Given the description of an element on the screen output the (x, y) to click on. 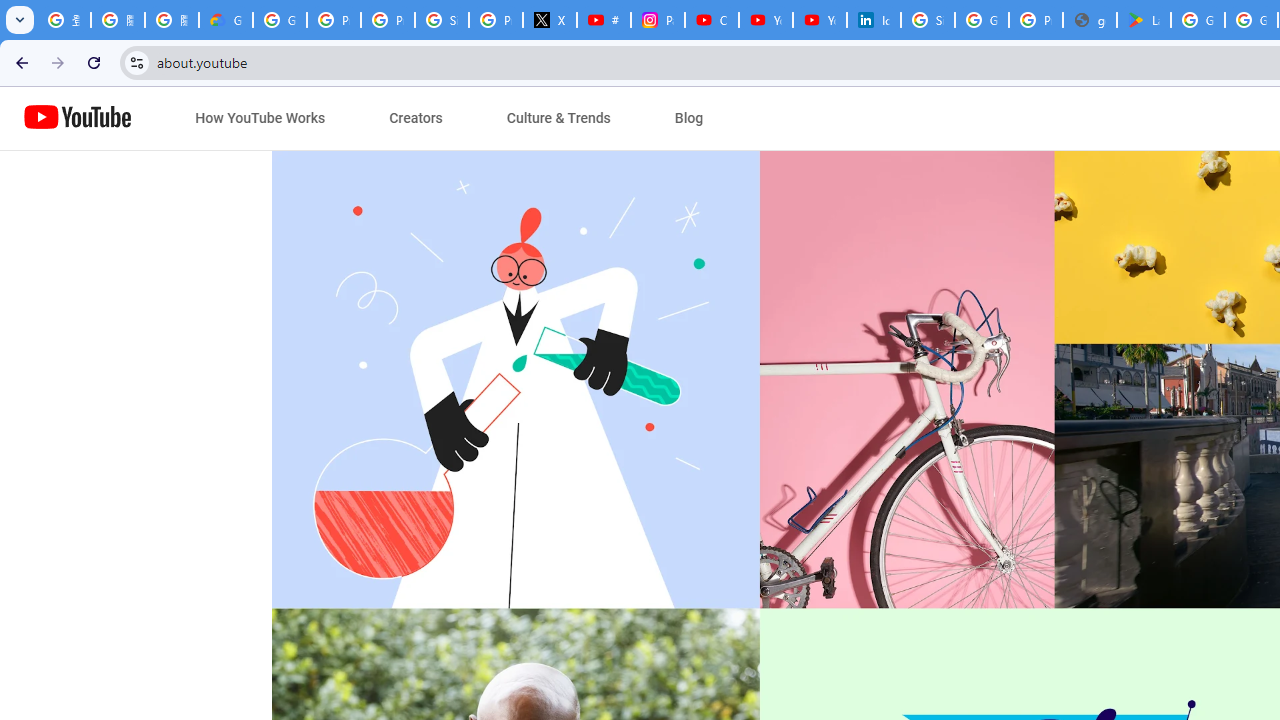
#nbabasketballhighlights - YouTube (604, 20)
Blog (689, 118)
X (550, 20)
How YouTube Works (260, 118)
Home page link (77, 118)
Culture & Trends (557, 118)
Privacy Help Center - Policies Help (387, 20)
